Given the description of an element on the screen output the (x, y) to click on. 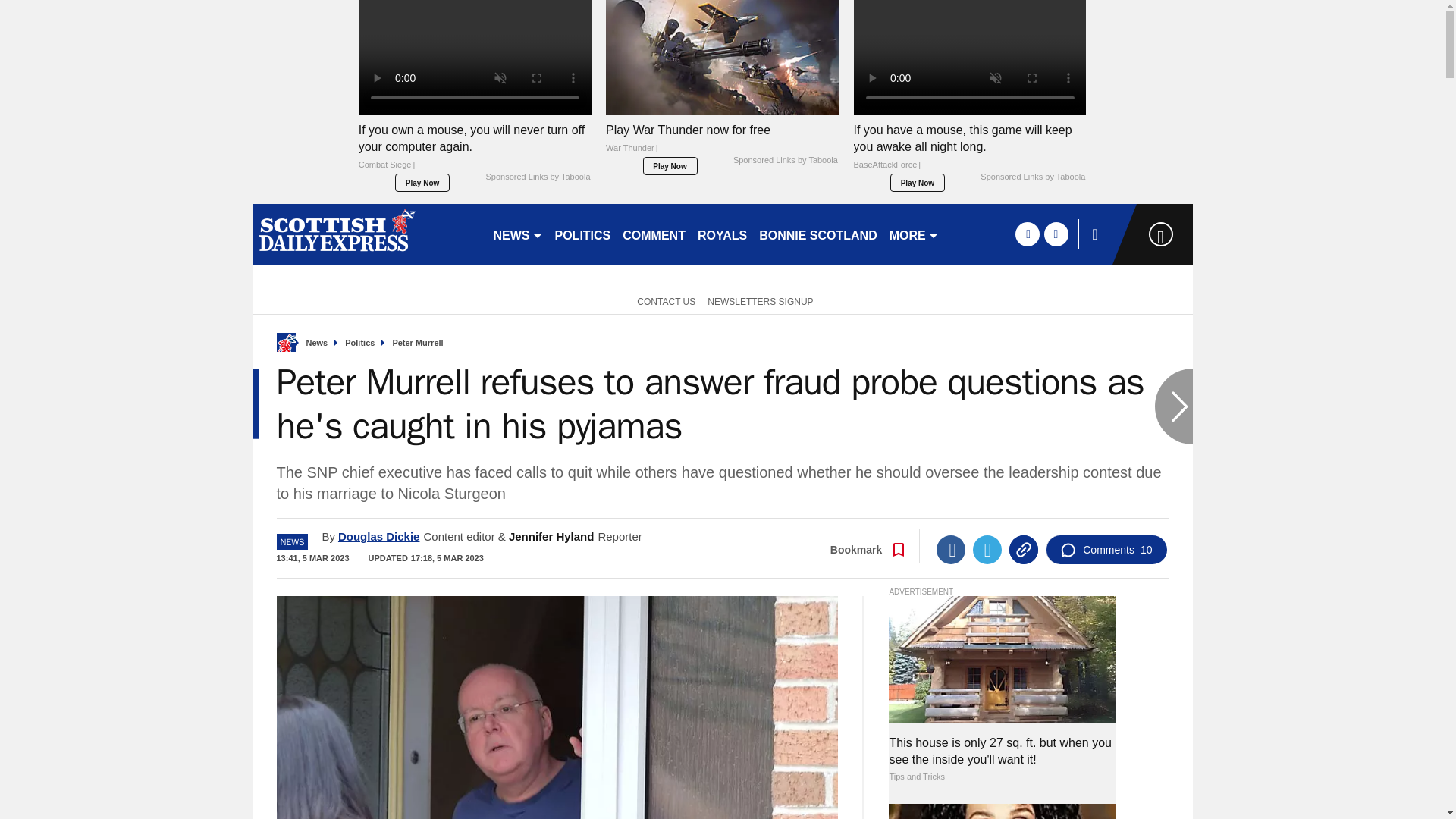
Twitter (986, 549)
BONNIE SCOTLAND (817, 233)
Sponsored Links by Taboola (785, 160)
ROYALS (721, 233)
Play Now (670, 166)
scottishdailyexpress (365, 233)
MORE (913, 233)
Comments (1105, 549)
Facebook (950, 549)
twitter (1055, 233)
Play Now (421, 182)
COMMENT (653, 233)
Sponsored Links by Taboola (1031, 176)
POLITICS (582, 233)
